Given the description of an element on the screen output the (x, y) to click on. 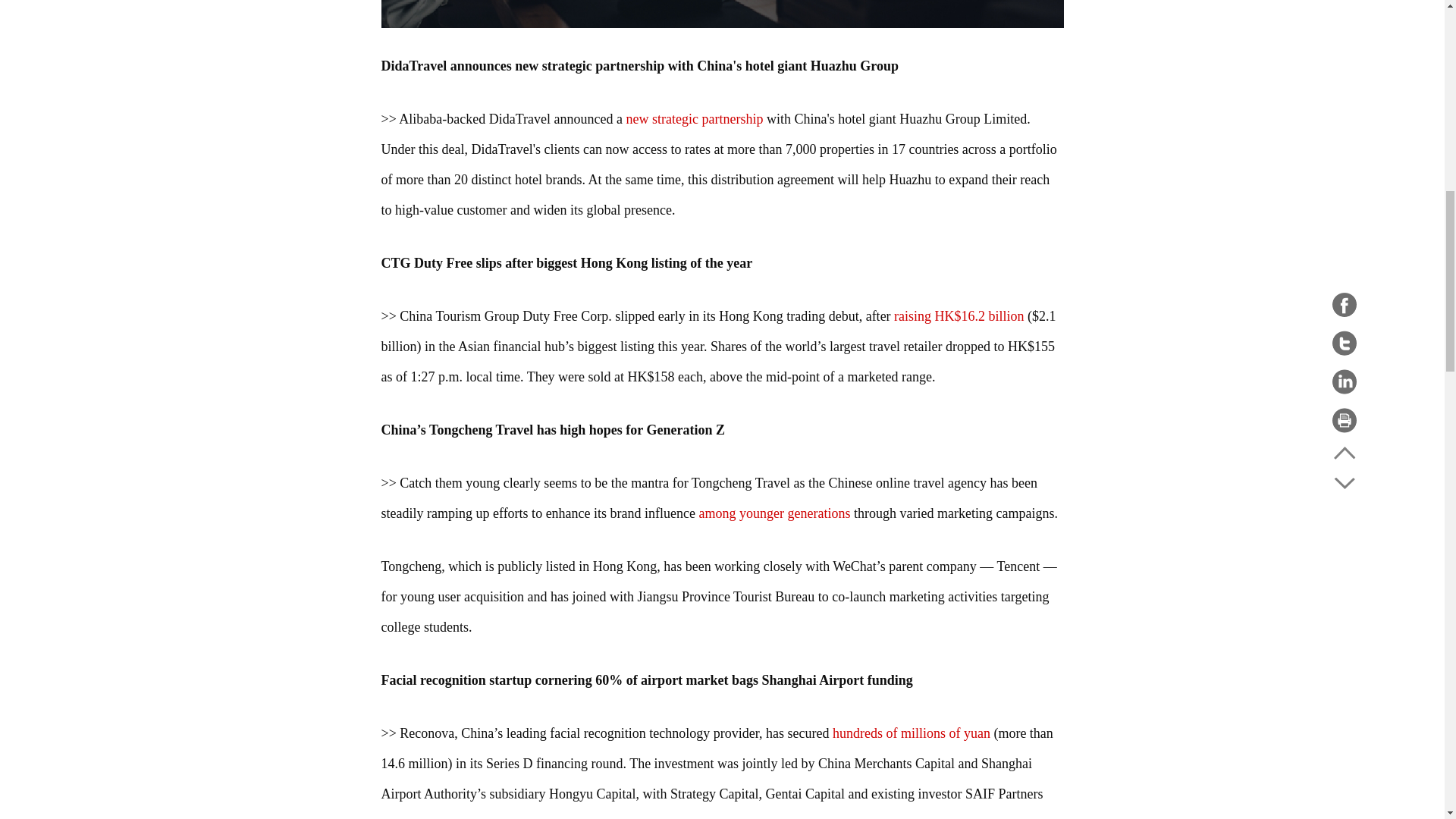
hundreds of millions of yuan (911, 732)
among younger generations (774, 512)
new strategic partnership (694, 118)
